Given the description of an element on the screen output the (x, y) to click on. 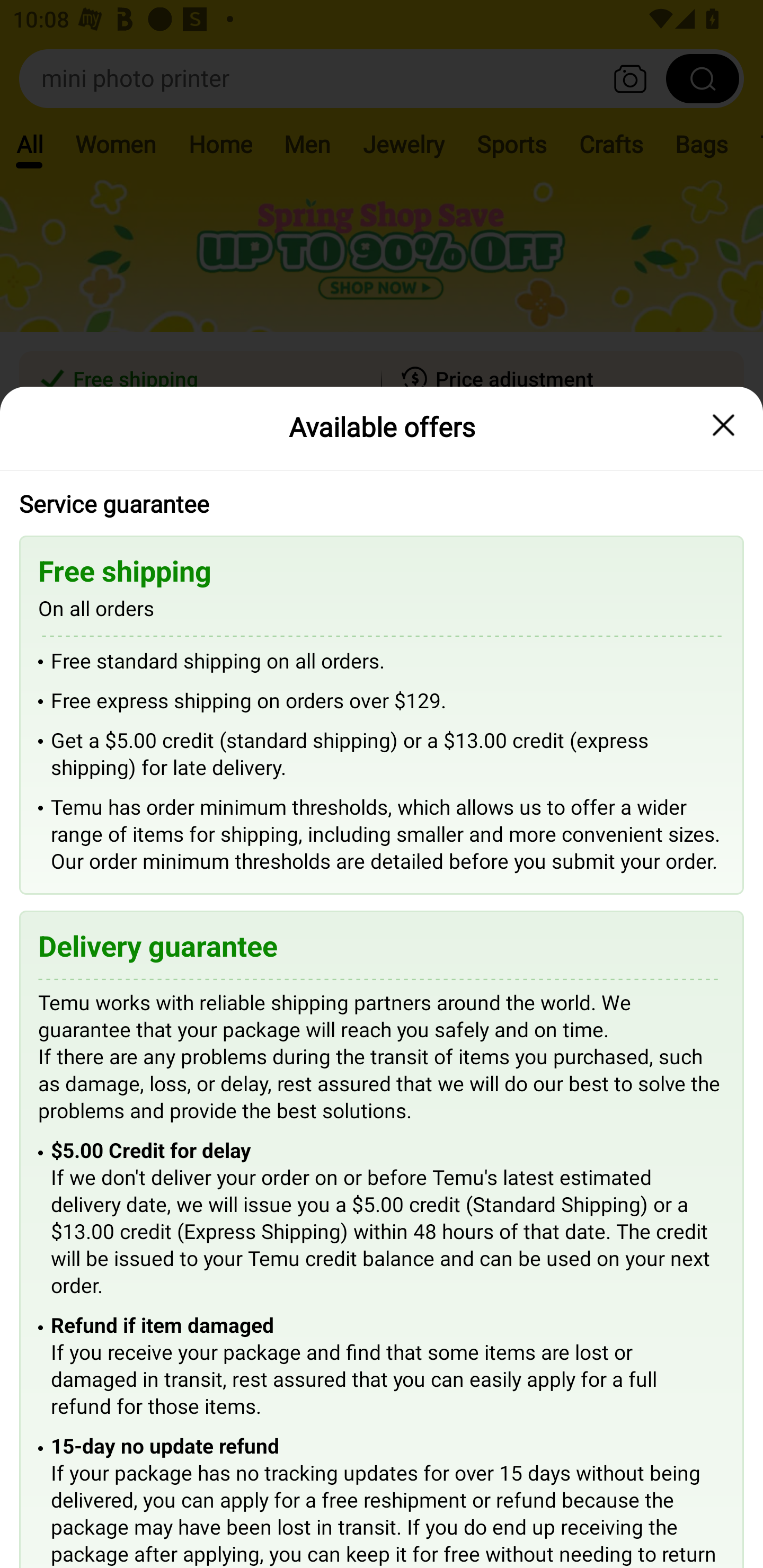
Lightning deals (379, 524)
